Given the description of an element on the screen output the (x, y) to click on. 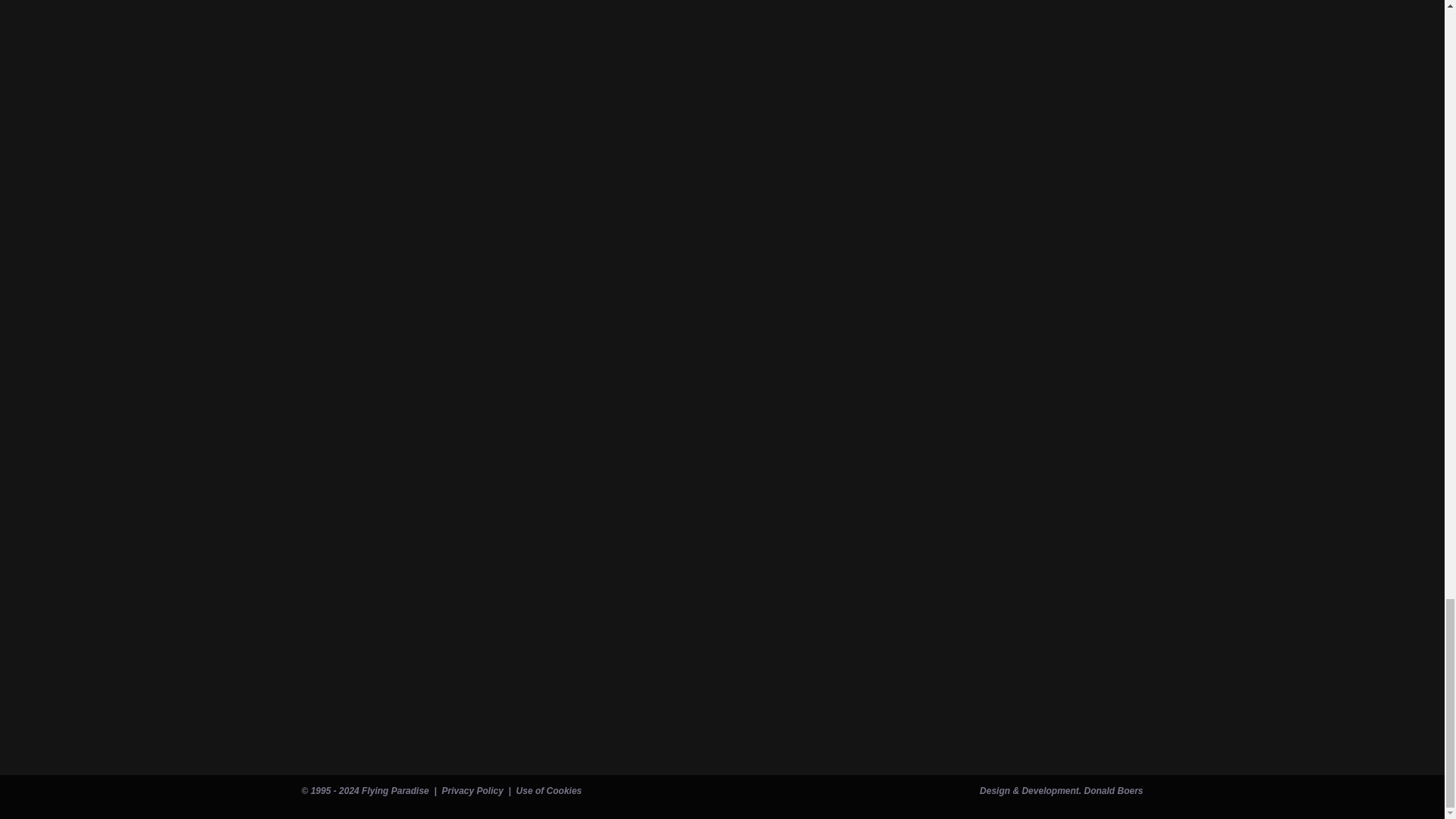
Use of Cookies (549, 790)
Donald Boers (1112, 790)
Subscribe now! (371, 719)
Privacy Policy (471, 790)
